Given the description of an element on the screen output the (x, y) to click on. 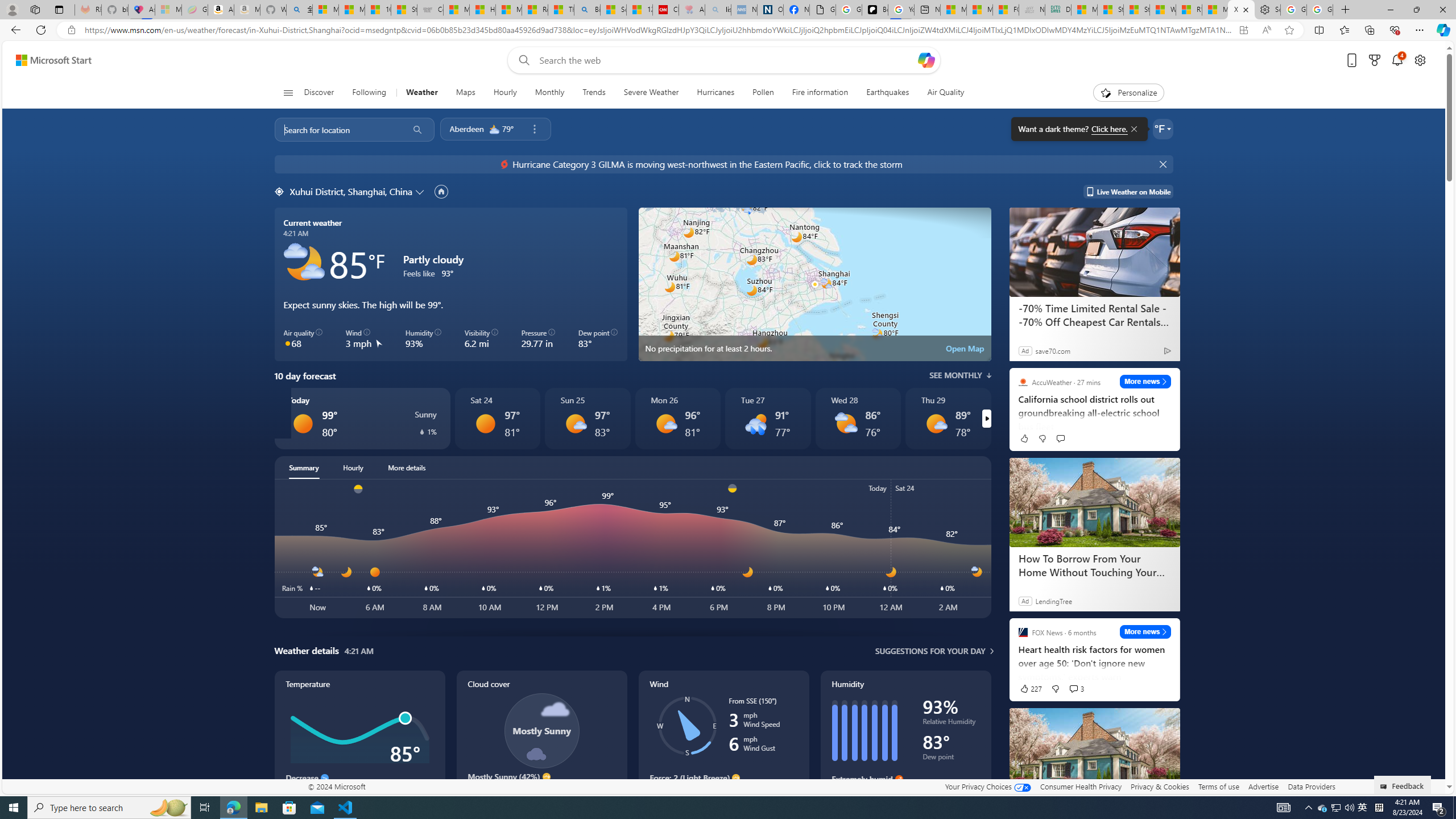
Your Privacy Choices (987, 786)
Hide (1163, 164)
Class: cloudCoverSvg-DS-ps0R9q (541, 730)
Steady with mostly sunny sky at 4:21 AM. (541, 793)
Precipitation (422, 431)
Refresh this page (50, 424)
Bing (587, 9)
Weather settings Want a dark theme?Click here. (1162, 128)
